Given the description of an element on the screen output the (x, y) to click on. 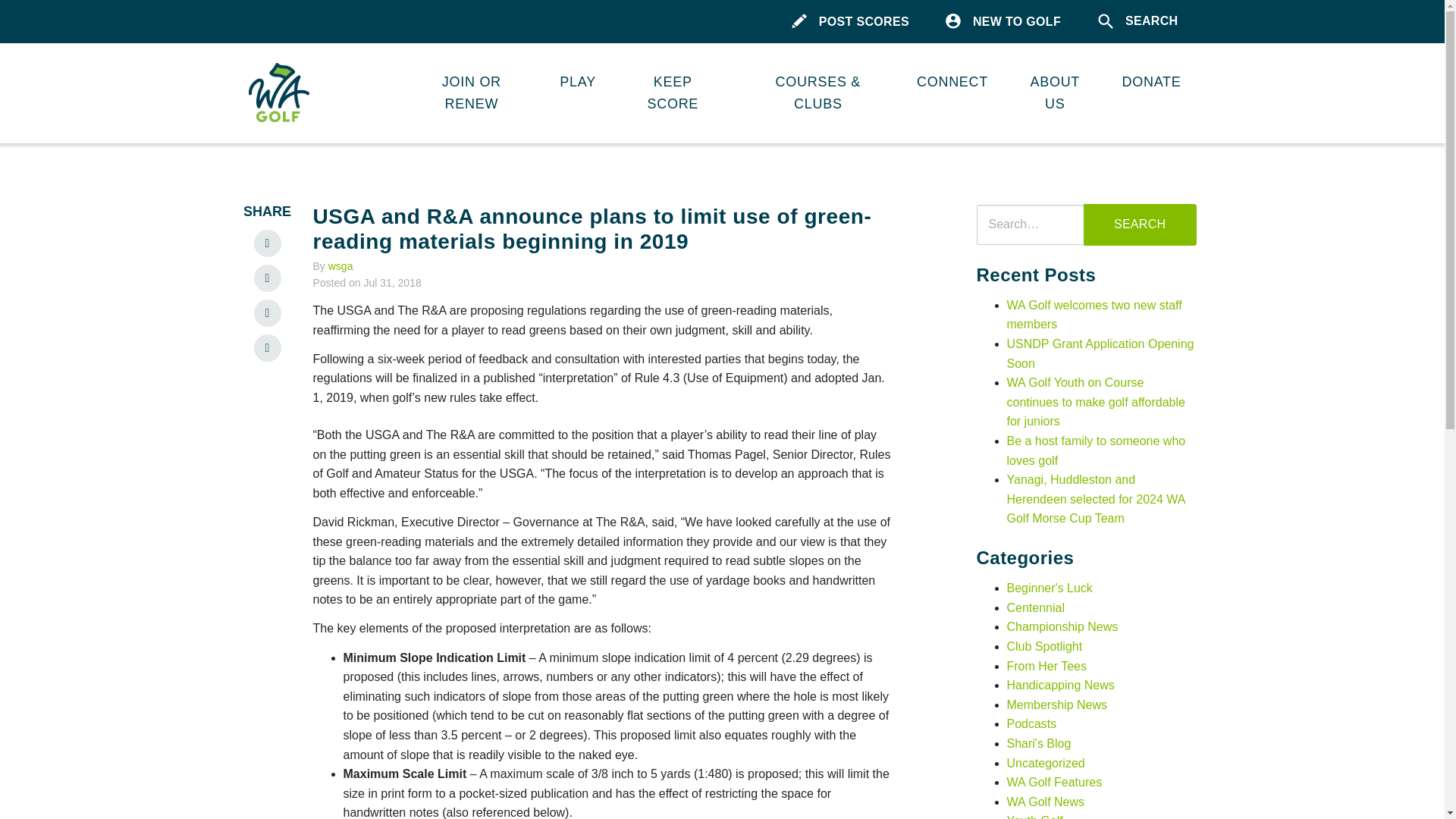
LinkedIn (267, 243)
Twitter (267, 312)
Email (267, 347)
JOIN OR RENEW (470, 93)
Facebook (267, 277)
NEW TO GOLF (1002, 21)
KEEP SCORE (673, 93)
PLAY (577, 82)
SEARCH (1137, 21)
POST SCORES (850, 21)
